Given the description of an element on the screen output the (x, y) to click on. 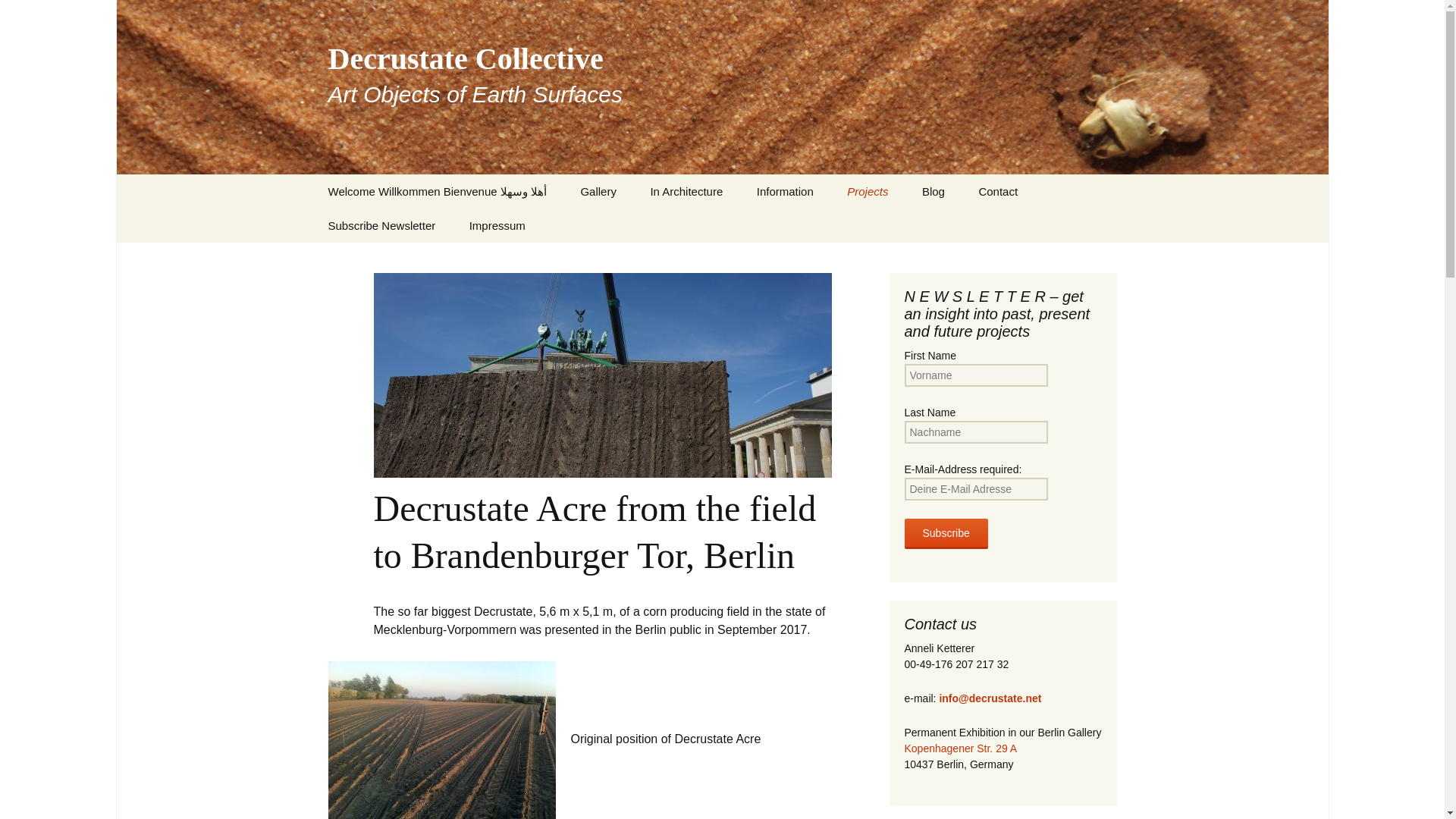
Subscribe (945, 533)
Gallery (866, 191)
Zum Inhalt springen (597, 191)
Northern America (686, 191)
Soil and its dance (640, 225)
Information (907, 225)
